Given the description of an element on the screen output the (x, y) to click on. 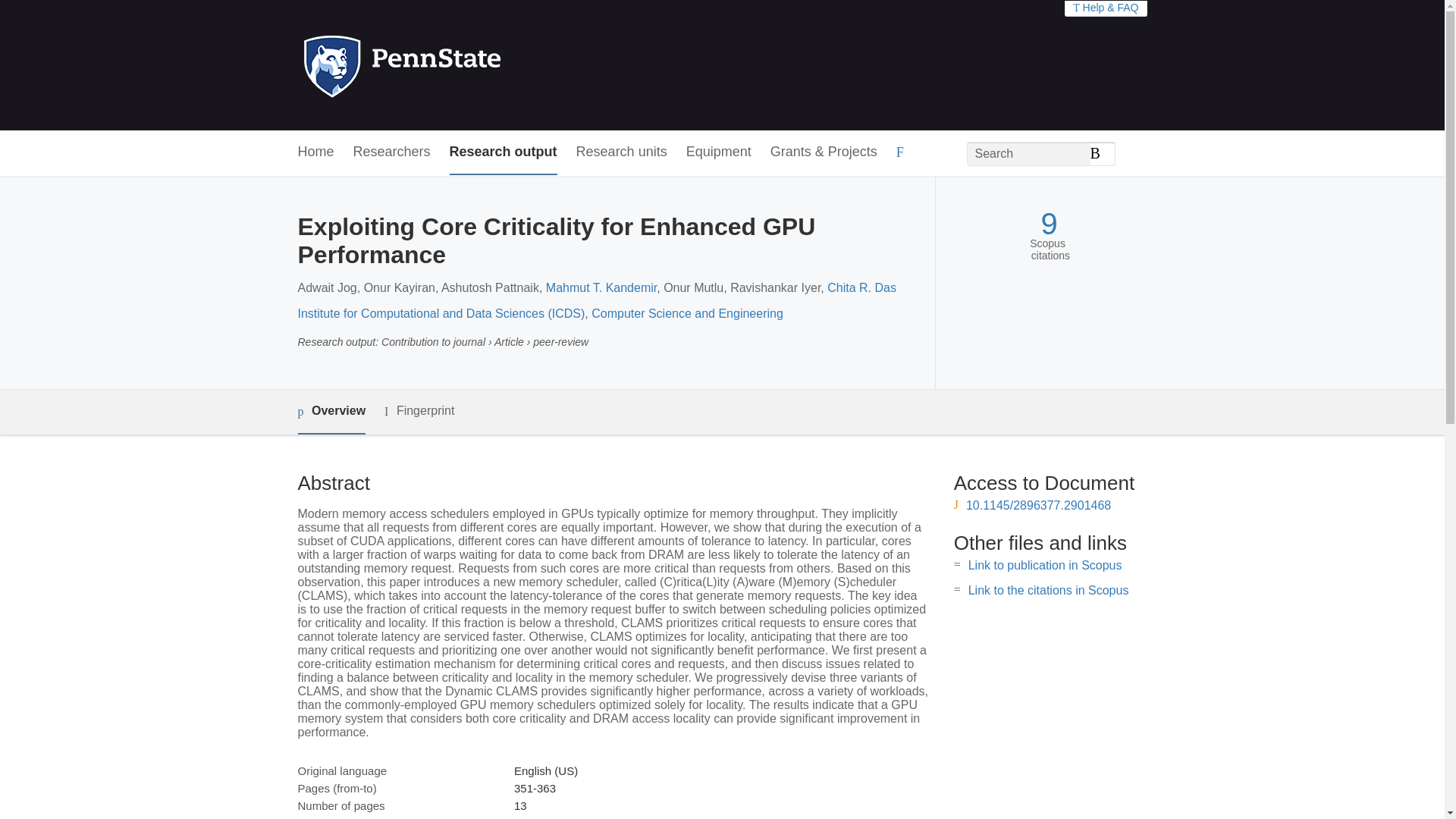
Computer Science and Engineering (687, 313)
Link to publication in Scopus (1045, 564)
Research output (503, 152)
Equipment (718, 152)
Researchers (391, 152)
Research units (621, 152)
Penn State Home (467, 65)
Chita R. Das (861, 287)
Fingerprint (419, 411)
